Given the description of an element on the screen output the (x, y) to click on. 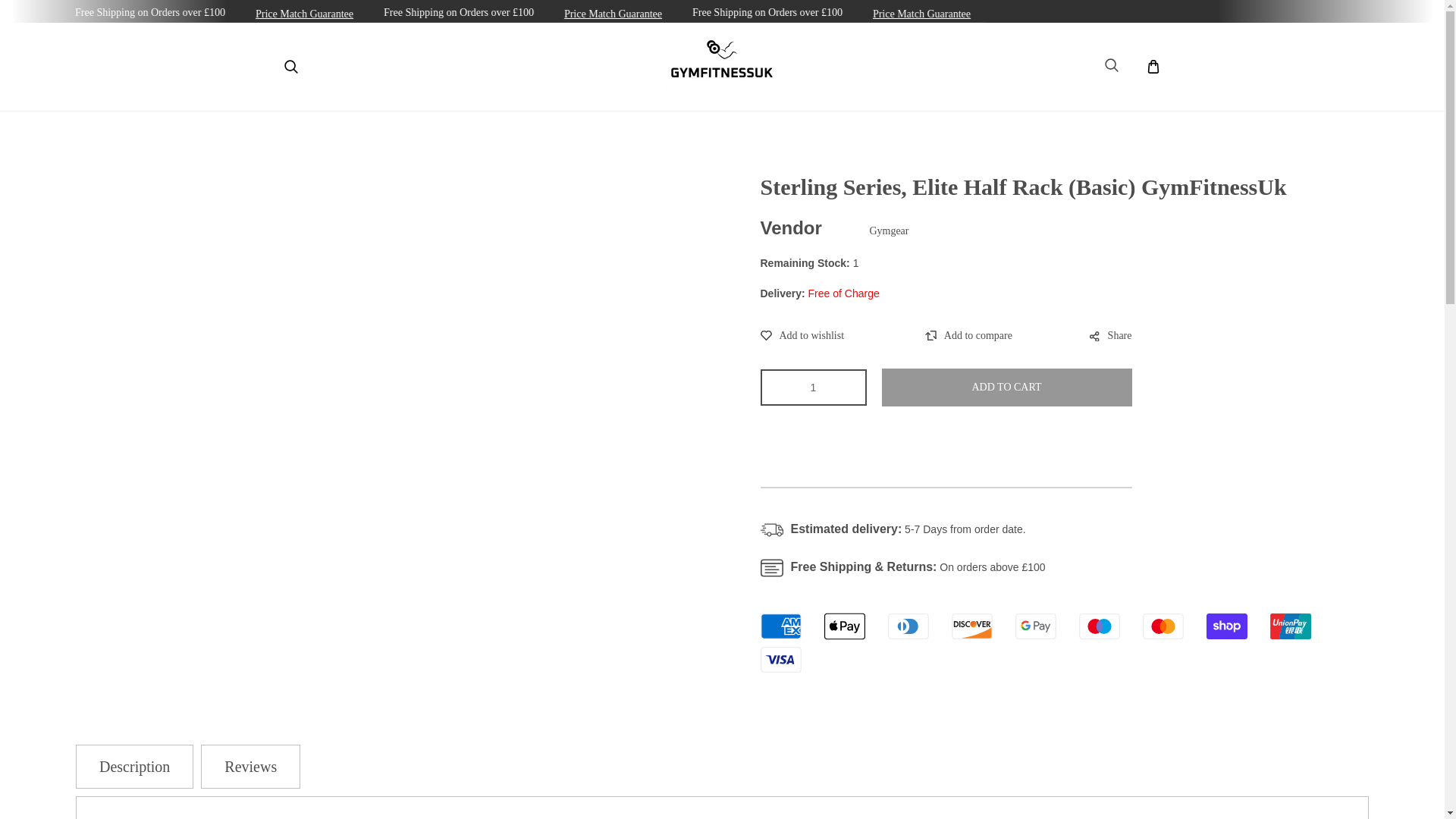
SKIP TO CONTENT (26, 18)
Price Match Guarantee (477, 14)
Gymgear (888, 230)
Price Match Guarantee (784, 14)
1 (813, 387)
Price Match Guarantee (1093, 14)
